Given the description of an element on the screen output the (x, y) to click on. 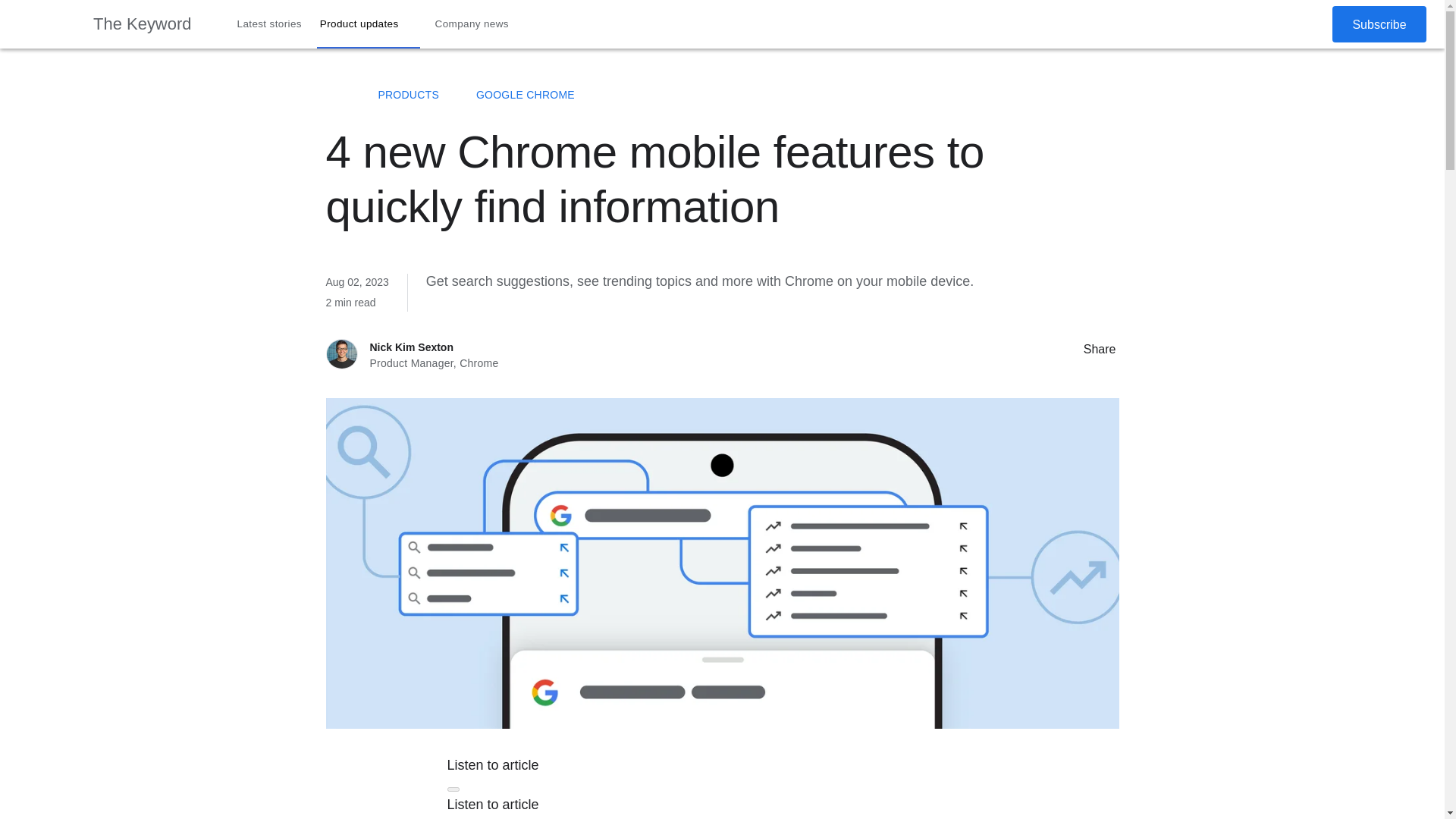
Latest stories (269, 24)
Search (1274, 23)
Secondary menu (1307, 23)
The Keyword (142, 24)
PRODUCTS GOOGLE CHROME (722, 94)
Google (46, 24)
Product updates (368, 24)
Share (1068, 347)
The Keyword (333, 94)
